Given the description of an element on the screen output the (x, y) to click on. 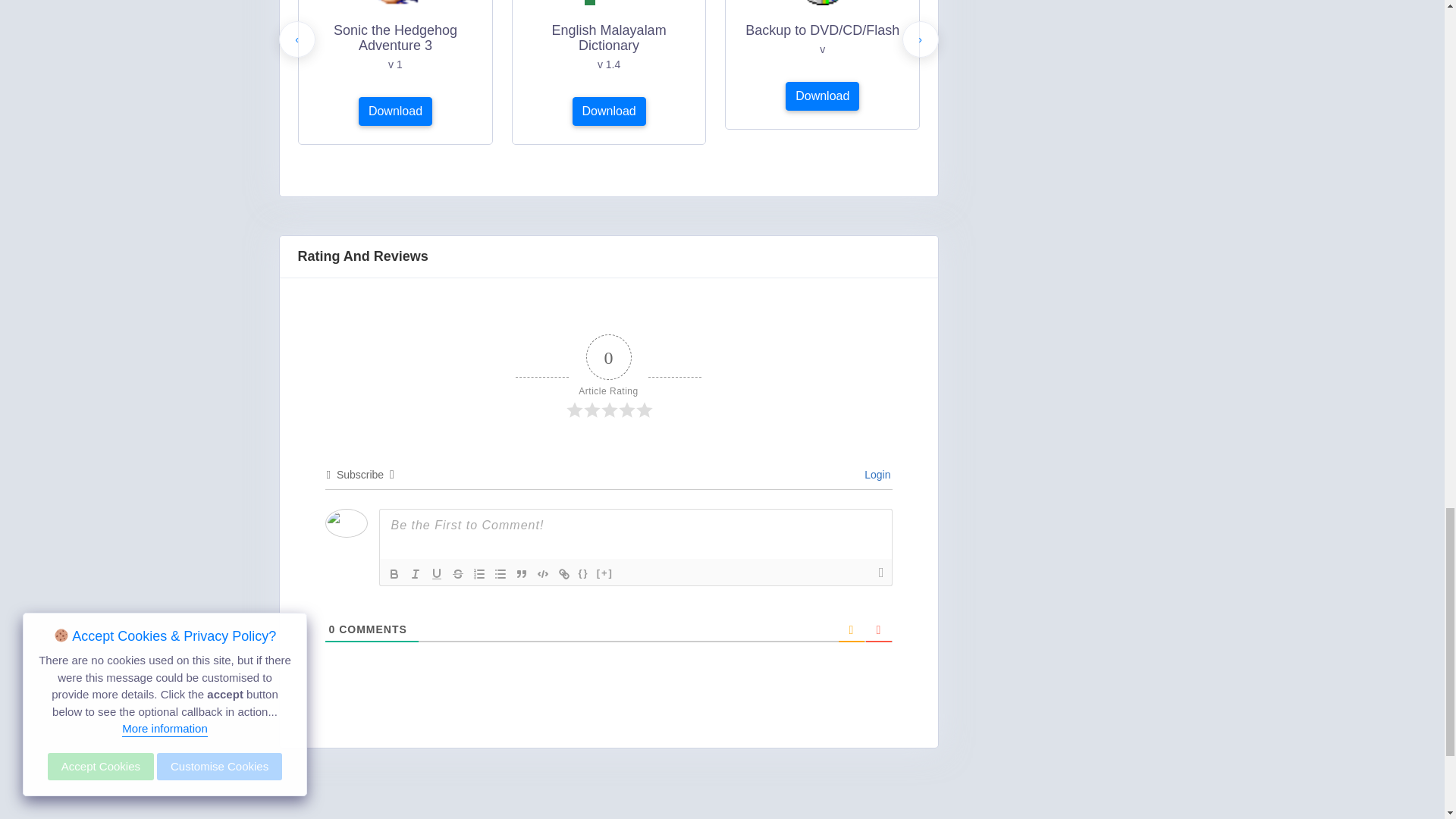
Spoiler (604, 574)
Strike (457, 574)
Link (564, 574)
Unordered List (500, 574)
Blockquote (521, 574)
Bold (394, 574)
Ordered List (478, 574)
Underline (436, 574)
Code Block (542, 574)
Italic (415, 574)
Source Code (583, 574)
